Given the description of an element on the screen output the (x, y) to click on. 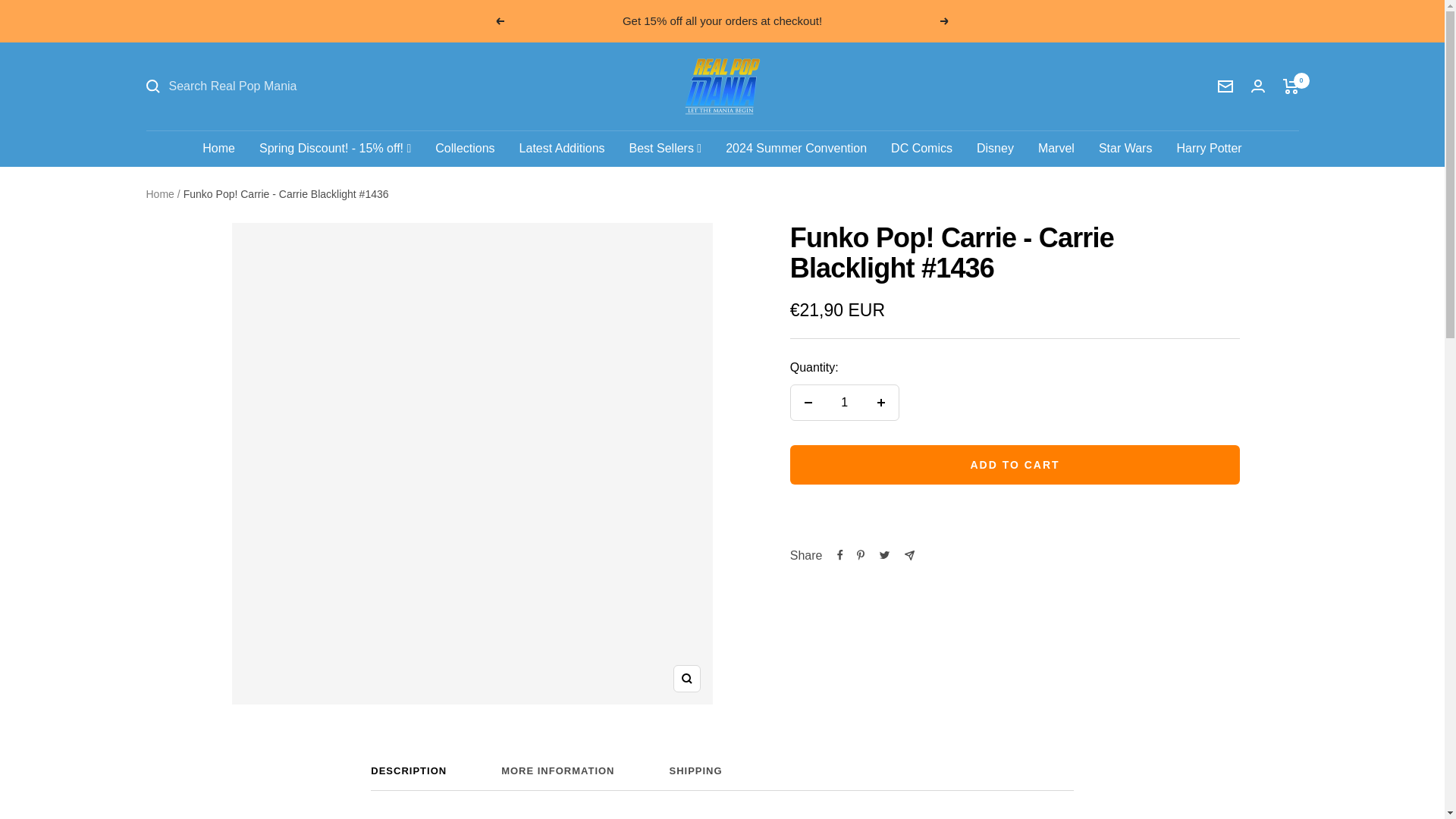
0 (1290, 86)
Real Pop Mania (722, 86)
Latest Additions (562, 148)
Previous (499, 21)
Disney (994, 148)
Newsletter (1225, 86)
Home (722, 777)
DC Comics (218, 148)
1 (921, 148)
Next (844, 402)
Collections (944, 21)
Harry Potter (465, 148)
Star Wars (1208, 148)
